Given the description of an element on the screen output the (x, y) to click on. 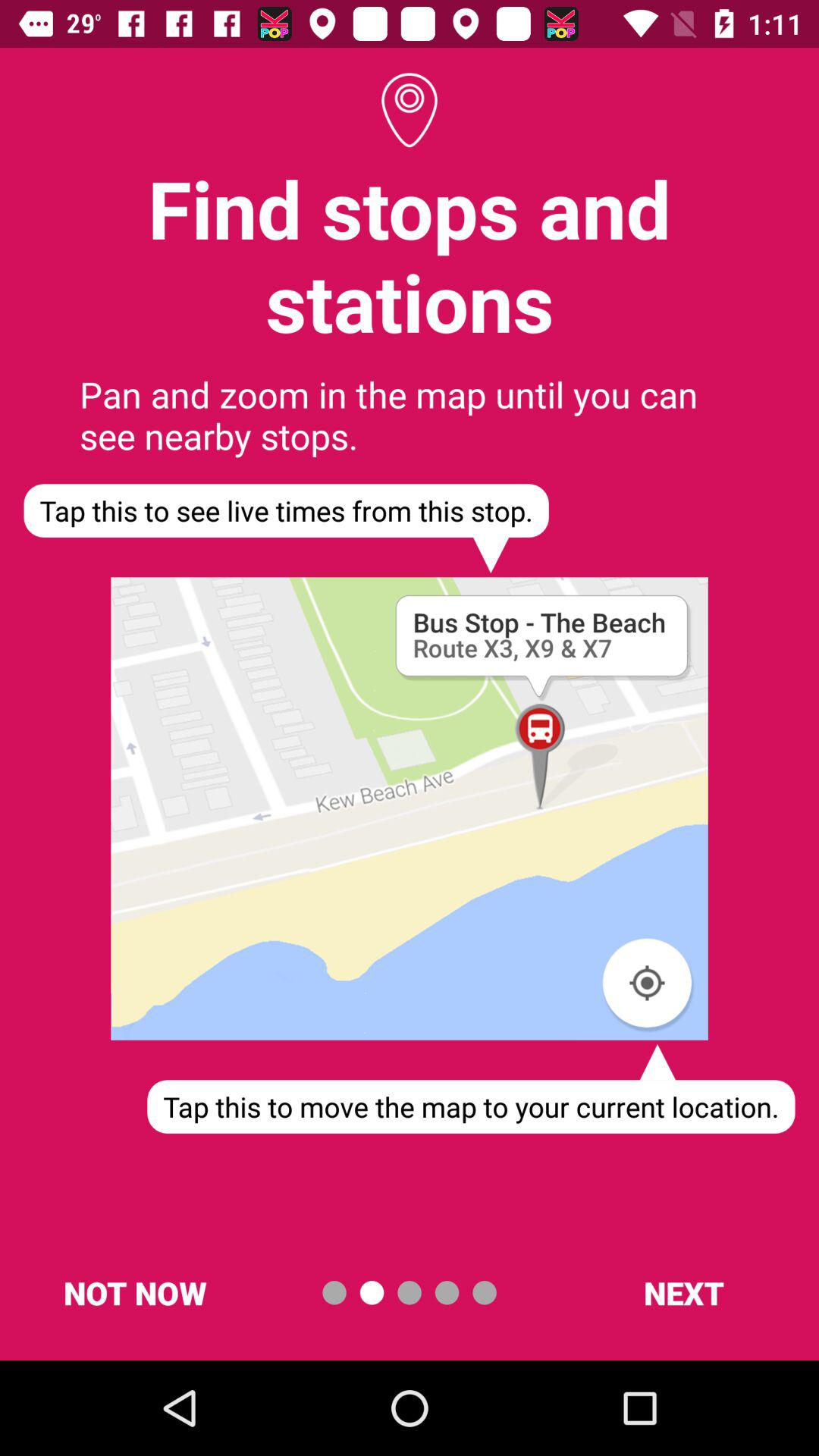
flip to the not now button (134, 1292)
